Given the description of an element on the screen output the (x, y) to click on. 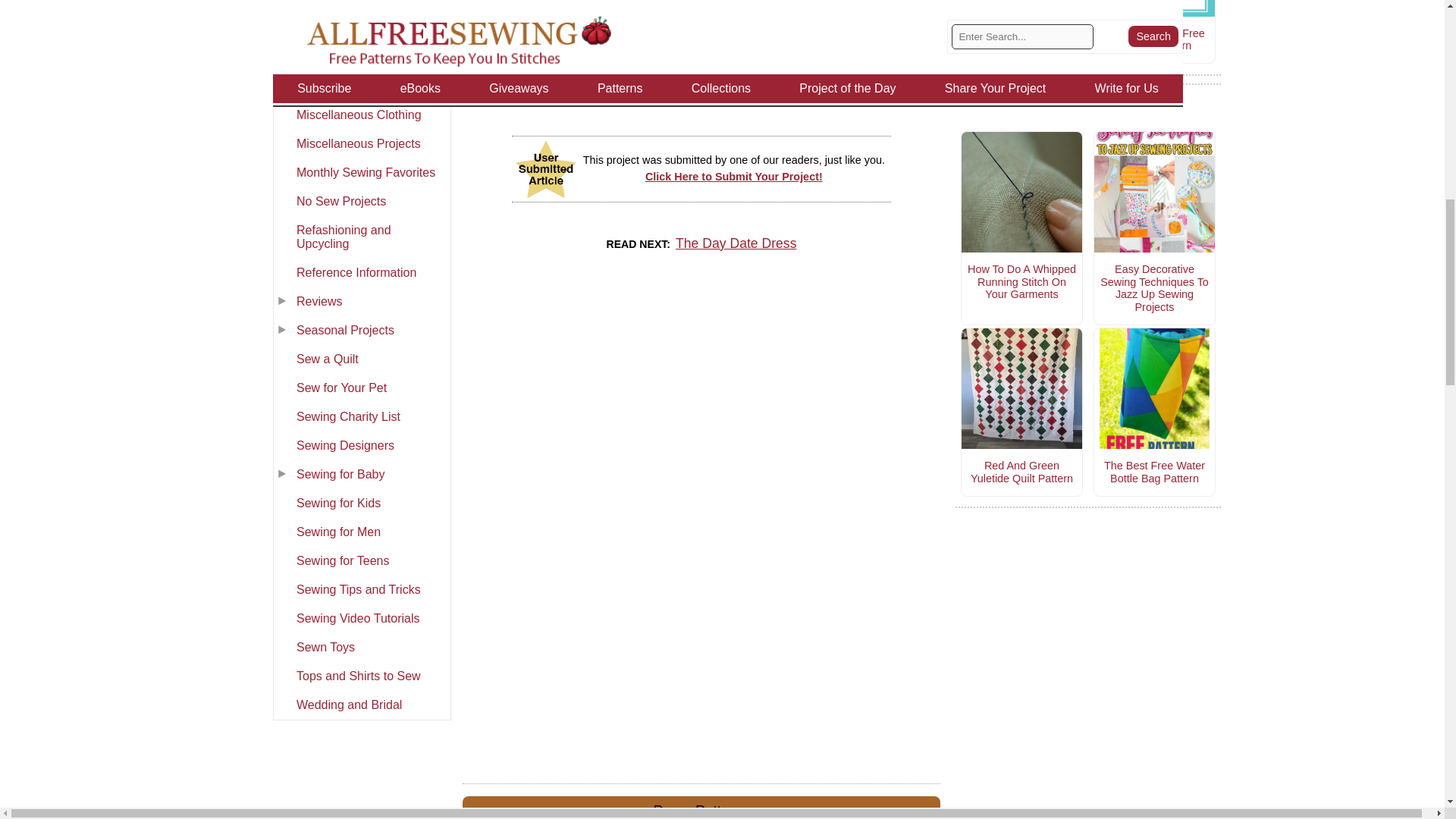
Insticator Content Engagement Unit (701, 419)
Facebook (641, 94)
Add (880, 94)
Email (761, 94)
